Given the description of an element on the screen output the (x, y) to click on. 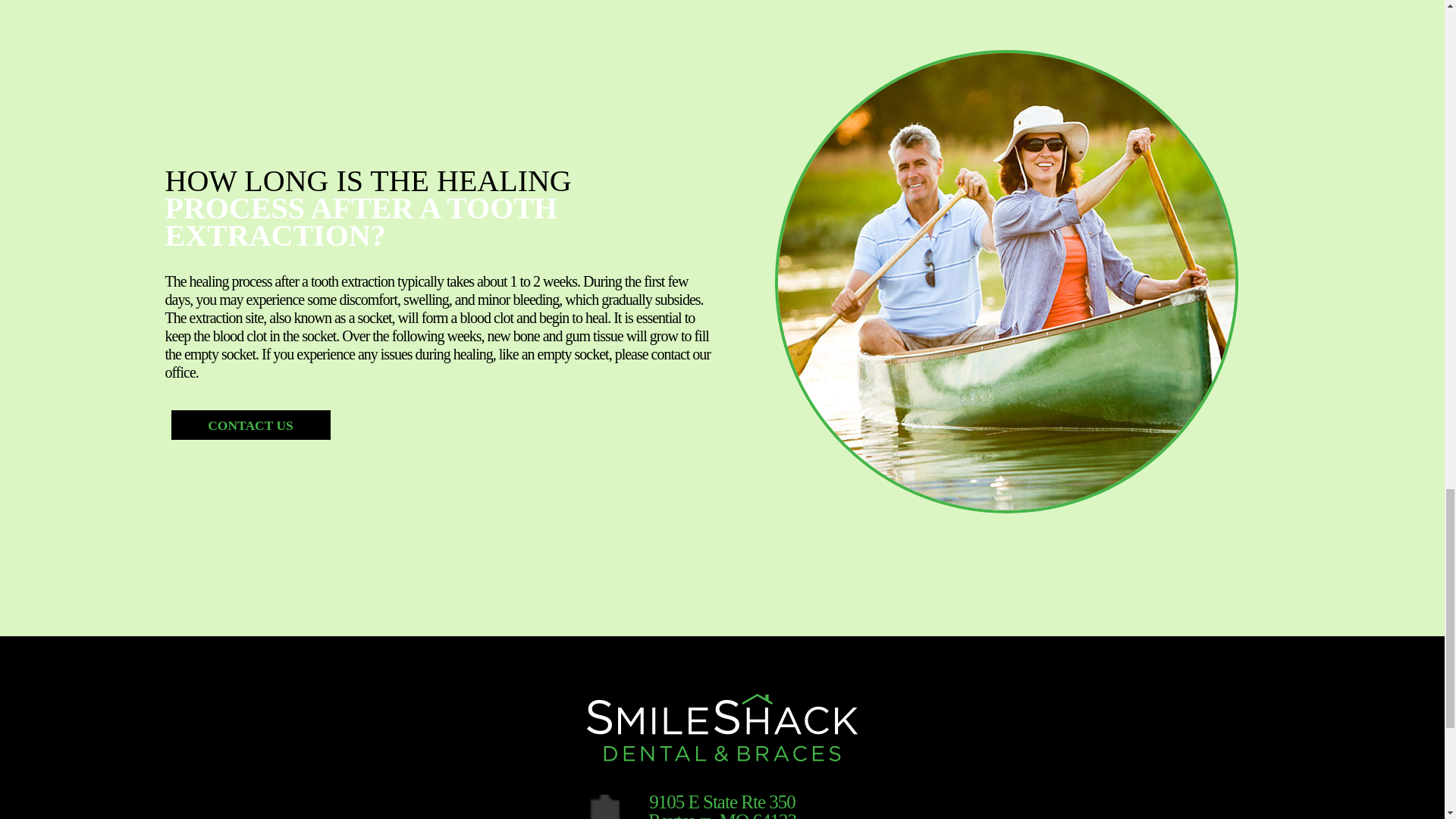
CONTACT US (721, 805)
